Given the description of an element on the screen output the (x, y) to click on. 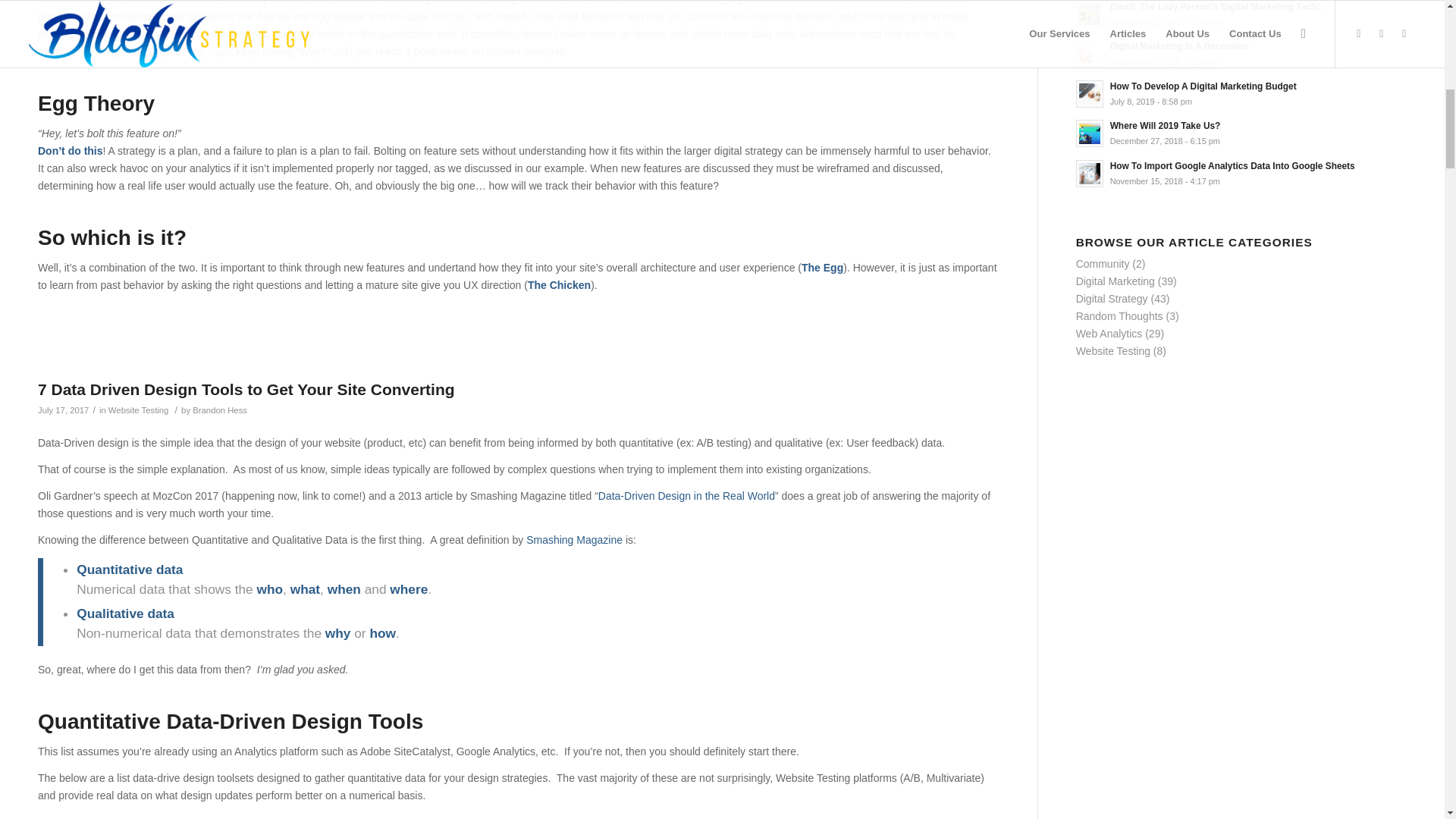
Smashing Magazine (574, 539)
Brandon Hess (219, 409)
7 Data Driven Design Tools to Get Your Site Converting (245, 389)
Website Testing (137, 409)
Data-Driven Design in the Real World (686, 495)
Posts by Brandon Hess (219, 409)
